Given the description of an element on the screen output the (x, y) to click on. 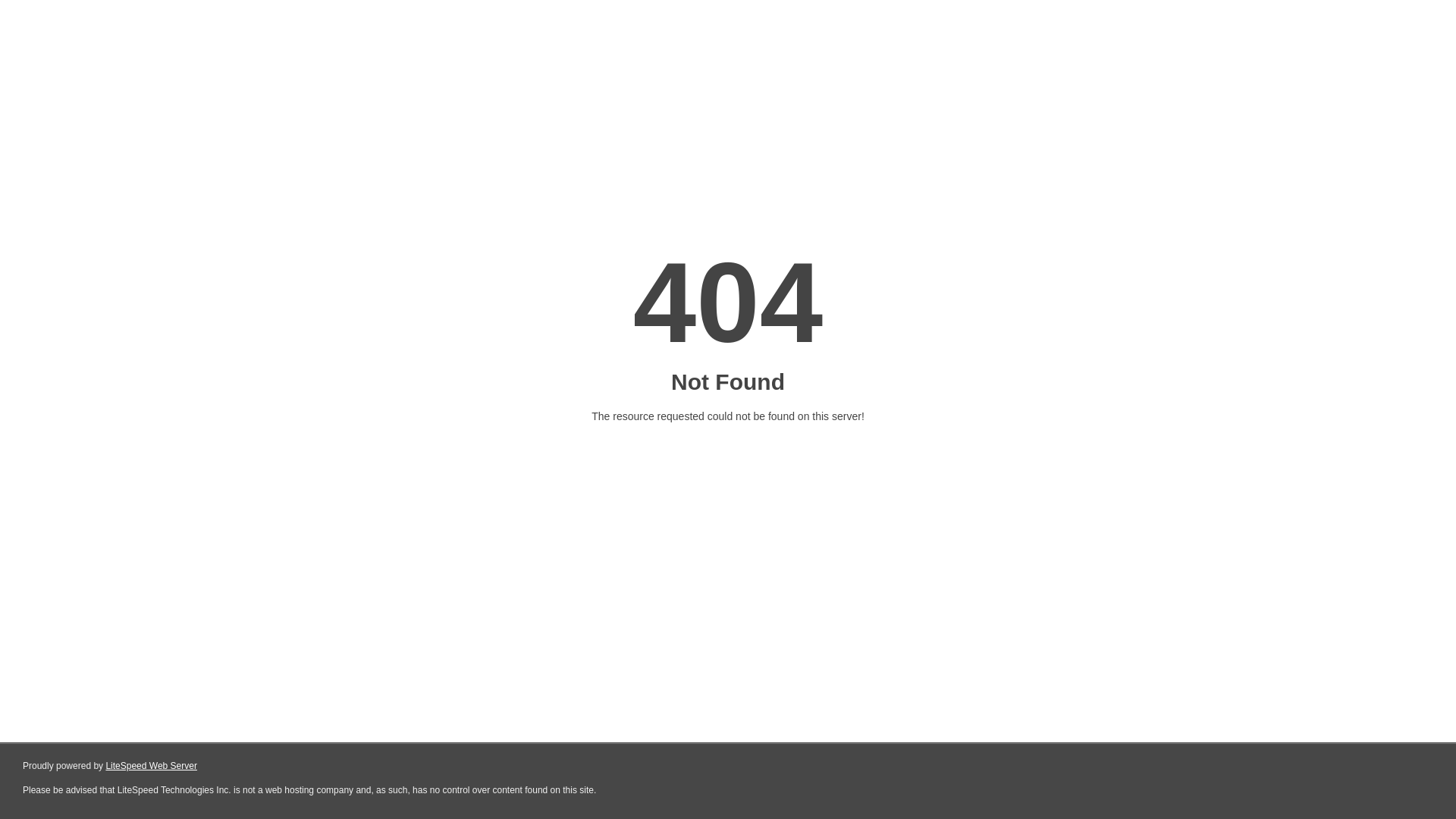
LiteSpeed Web Server Element type: text (151, 765)
